Given the description of an element on the screen output the (x, y) to click on. 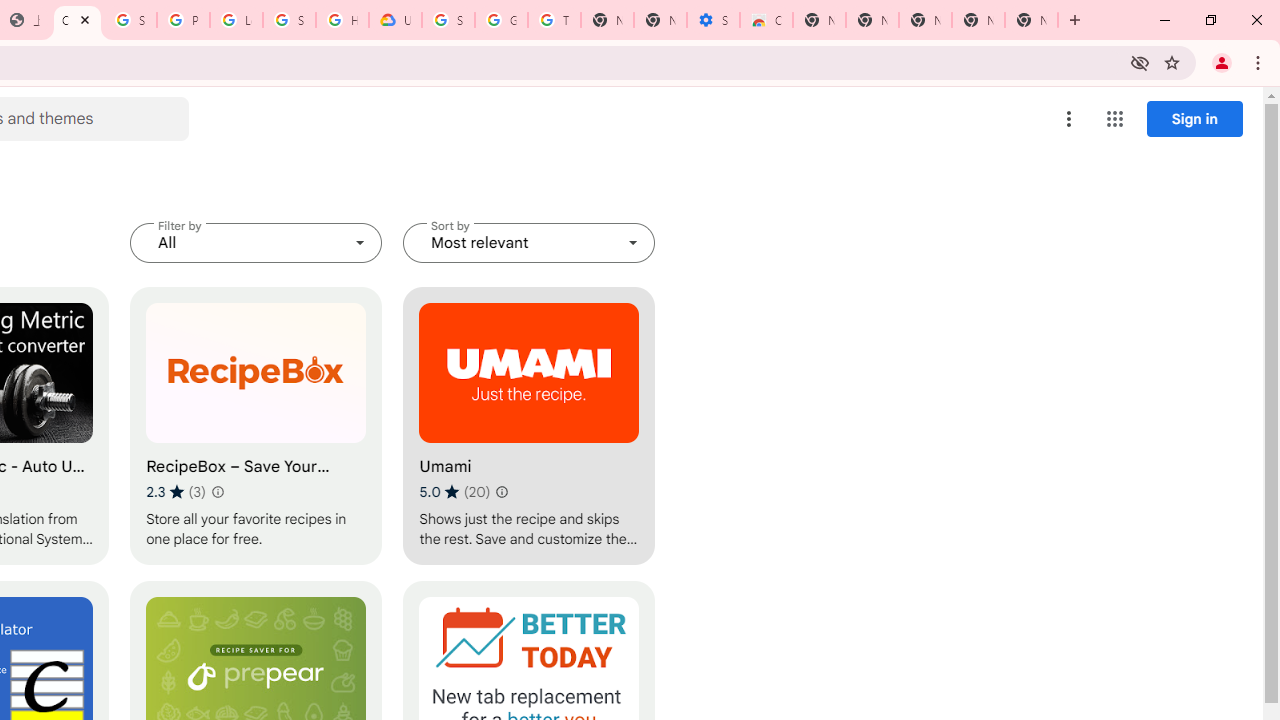
New Tab (1031, 20)
Average rating 5 out of 5 stars. 20 ratings. (454, 491)
Google Account Help (501, 20)
Sort by Most relevant (529, 242)
Average rating 2.3 out of 5 stars. 3 ratings. (176, 491)
Sign in - Google Accounts (448, 20)
More options menu (1069, 118)
Filter by All (256, 242)
Settings - Accessibility (713, 20)
